Given the description of an element on the screen output the (x, y) to click on. 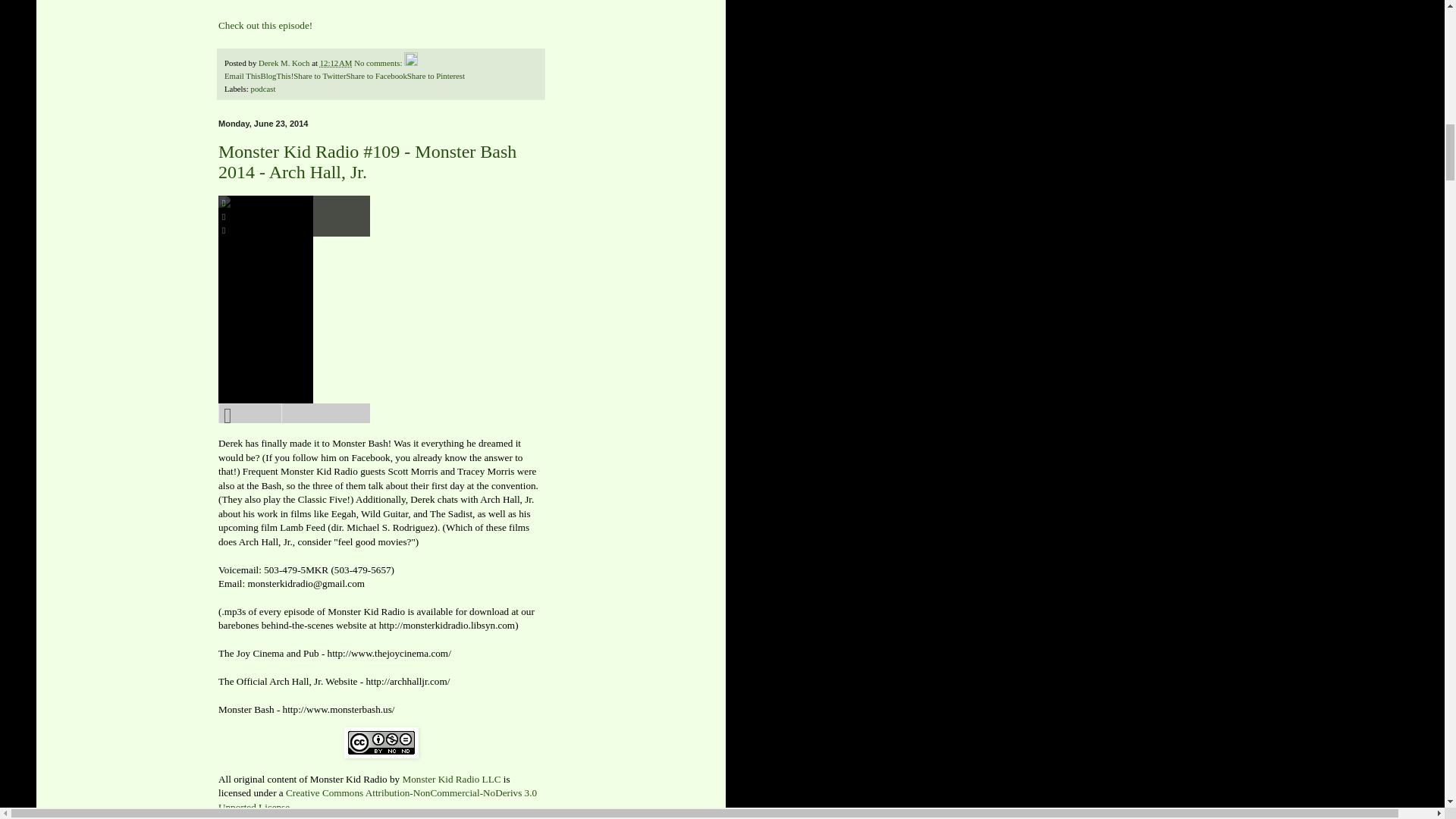
No comments: (378, 62)
permanent link (336, 62)
author profile (285, 62)
Derek M. Koch (285, 62)
Check out this episode! (265, 25)
Email This (242, 75)
Share to Pinterest (435, 75)
BlogThis! (277, 75)
BlogThis! (277, 75)
Edit Post (410, 62)
Share to Twitter (320, 75)
Share to Facebook (376, 75)
Share to Twitter (320, 75)
Share to Facebook (376, 75)
